Given the description of an element on the screen output the (x, y) to click on. 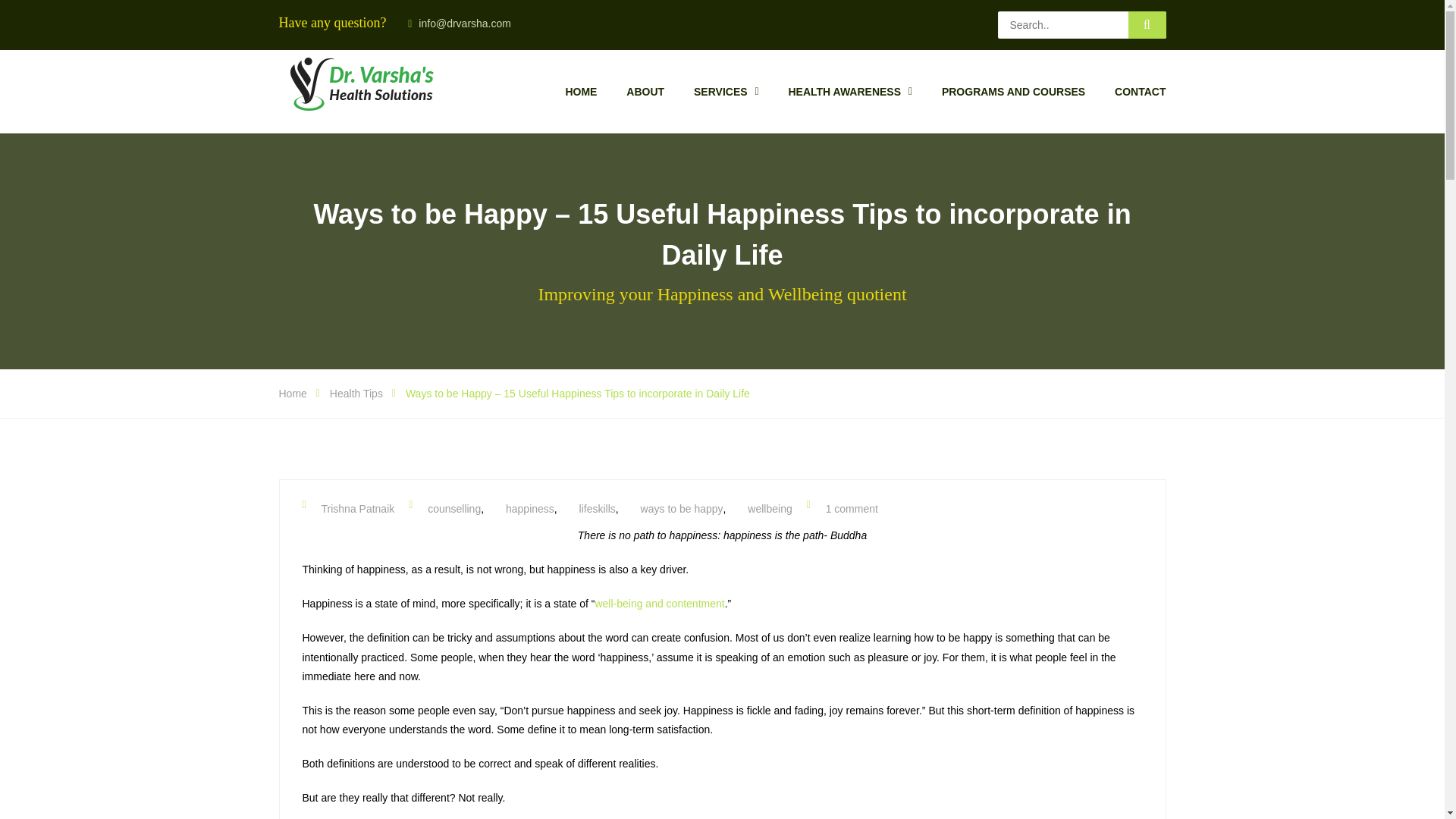
HEALTH AWARENESS (849, 91)
Home (580, 91)
PROGRAMS AND COURSES (1013, 91)
Programs and Courses (1013, 91)
ABOUT (644, 91)
Services (726, 91)
CONTACT (1140, 91)
HOME (580, 91)
About (644, 91)
SERVICES (726, 91)
